Given the description of an element on the screen output the (x, y) to click on. 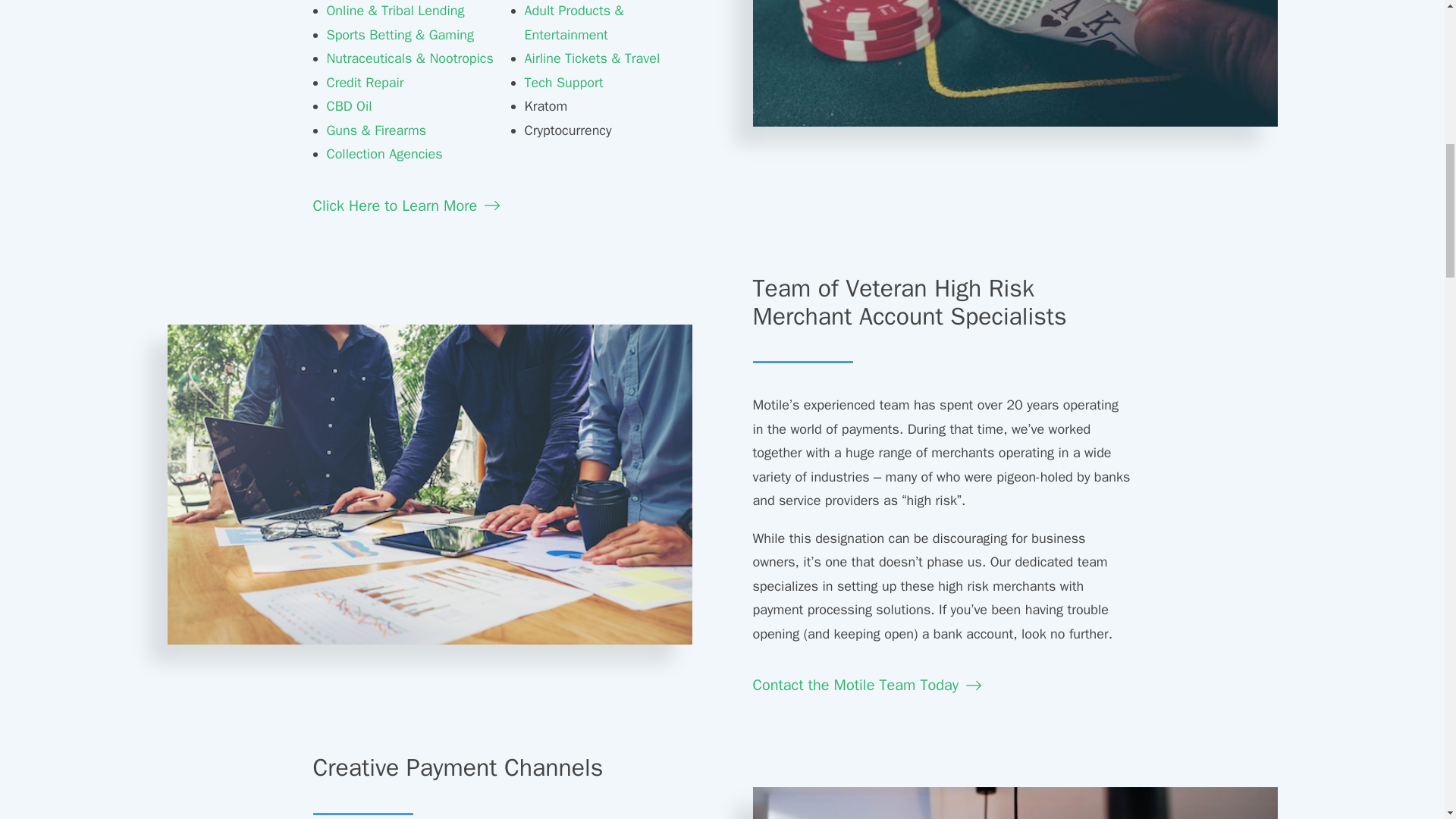
Credit Repair (364, 82)
